Given the description of an element on the screen output the (x, y) to click on. 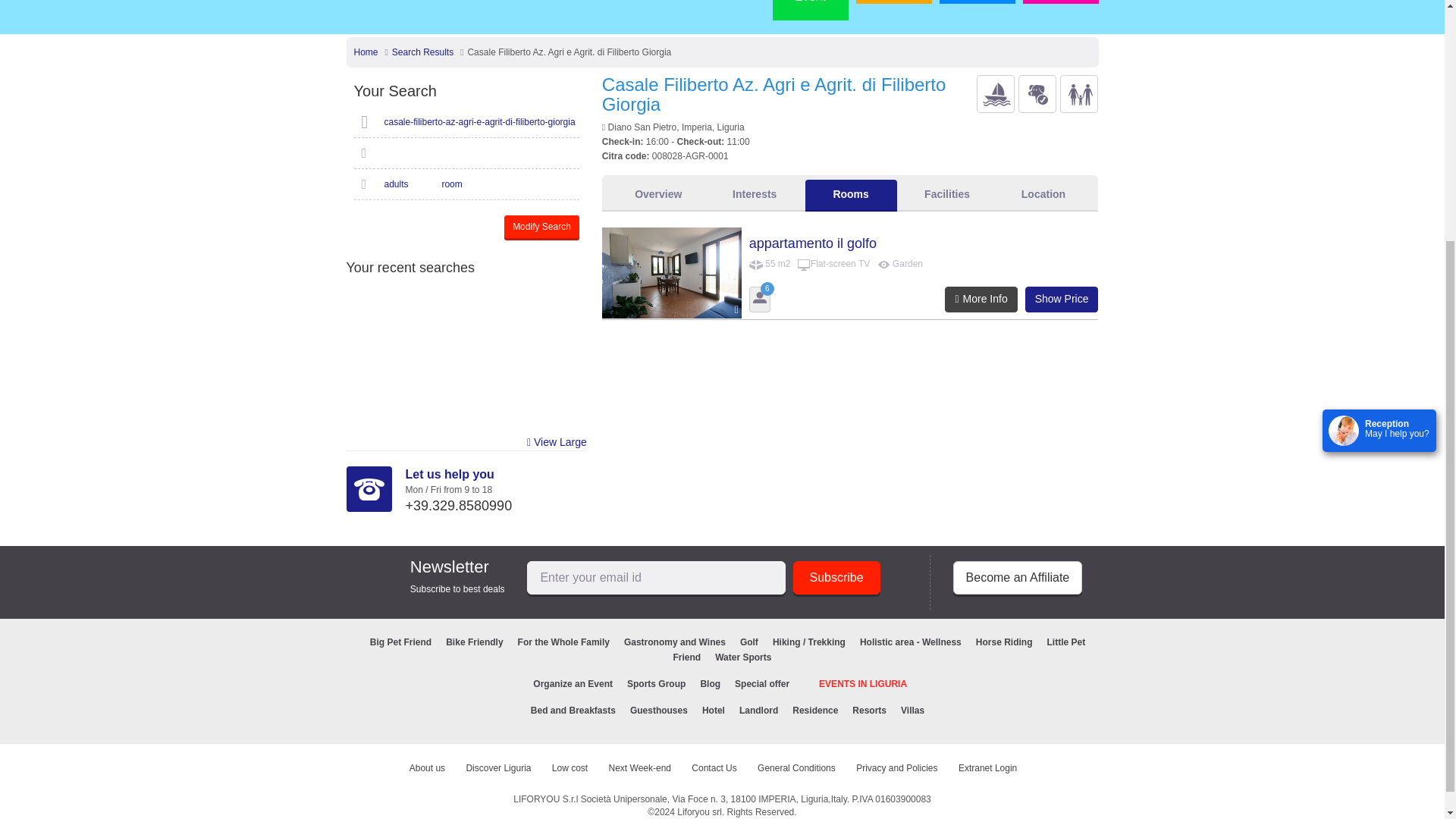
Water Sports (995, 94)
Sports Group (893, 2)
55 m2 (755, 264)
Garden (882, 264)
Modify Search (541, 226)
Upload your photo (976, 2)
View Large (556, 442)
Search Results (421, 51)
appartamento il golfo (671, 272)
Organize Your Event (809, 10)
Modify Search (541, 226)
Home (365, 51)
Subscribe (836, 577)
Little Pet Friend (1037, 94)
